Given the description of an element on the screen output the (x, y) to click on. 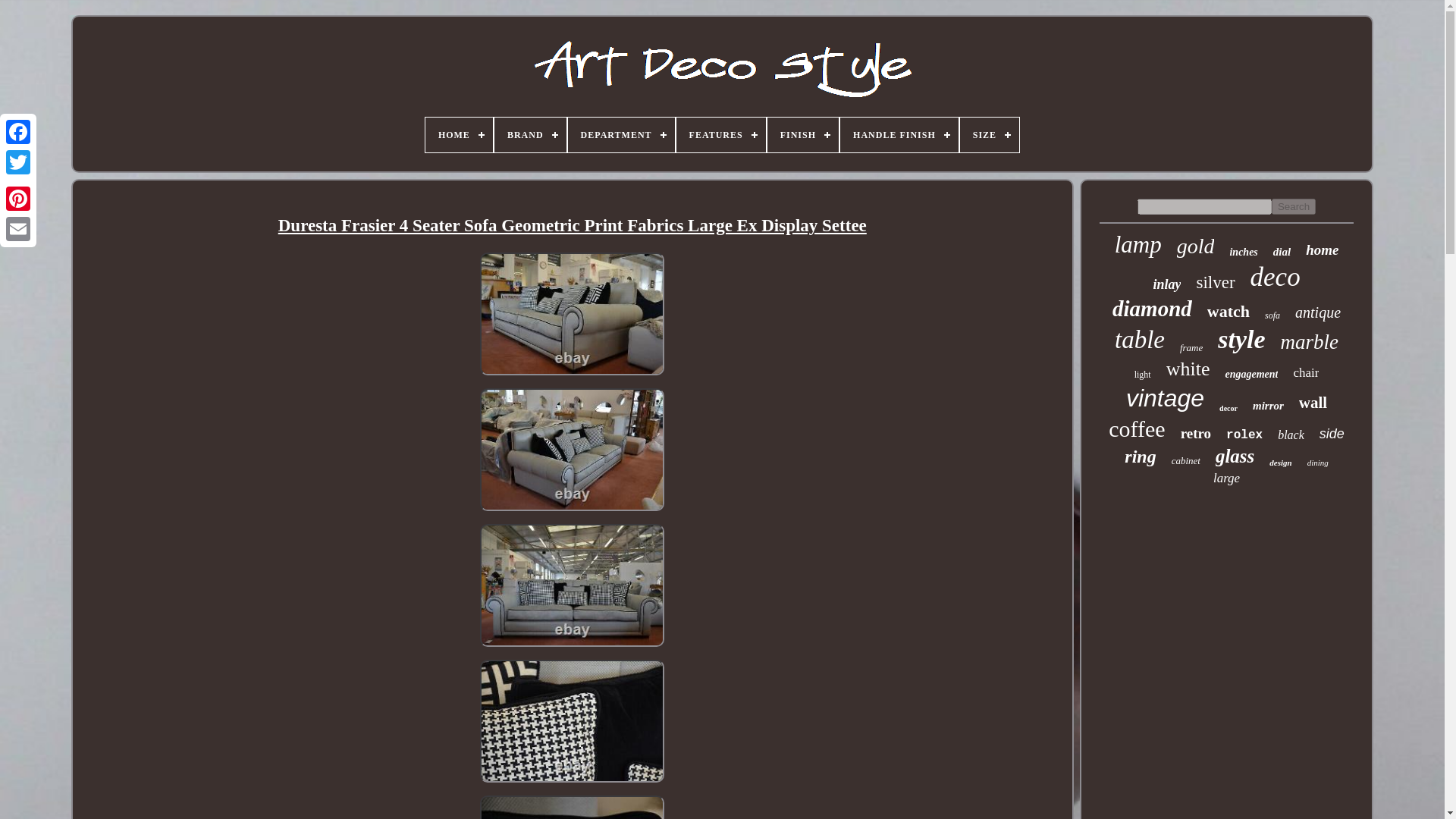
HOME (459, 134)
DEPARTMENT (621, 134)
BRAND (530, 134)
Search (1293, 206)
